Given the description of an element on the screen output the (x, y) to click on. 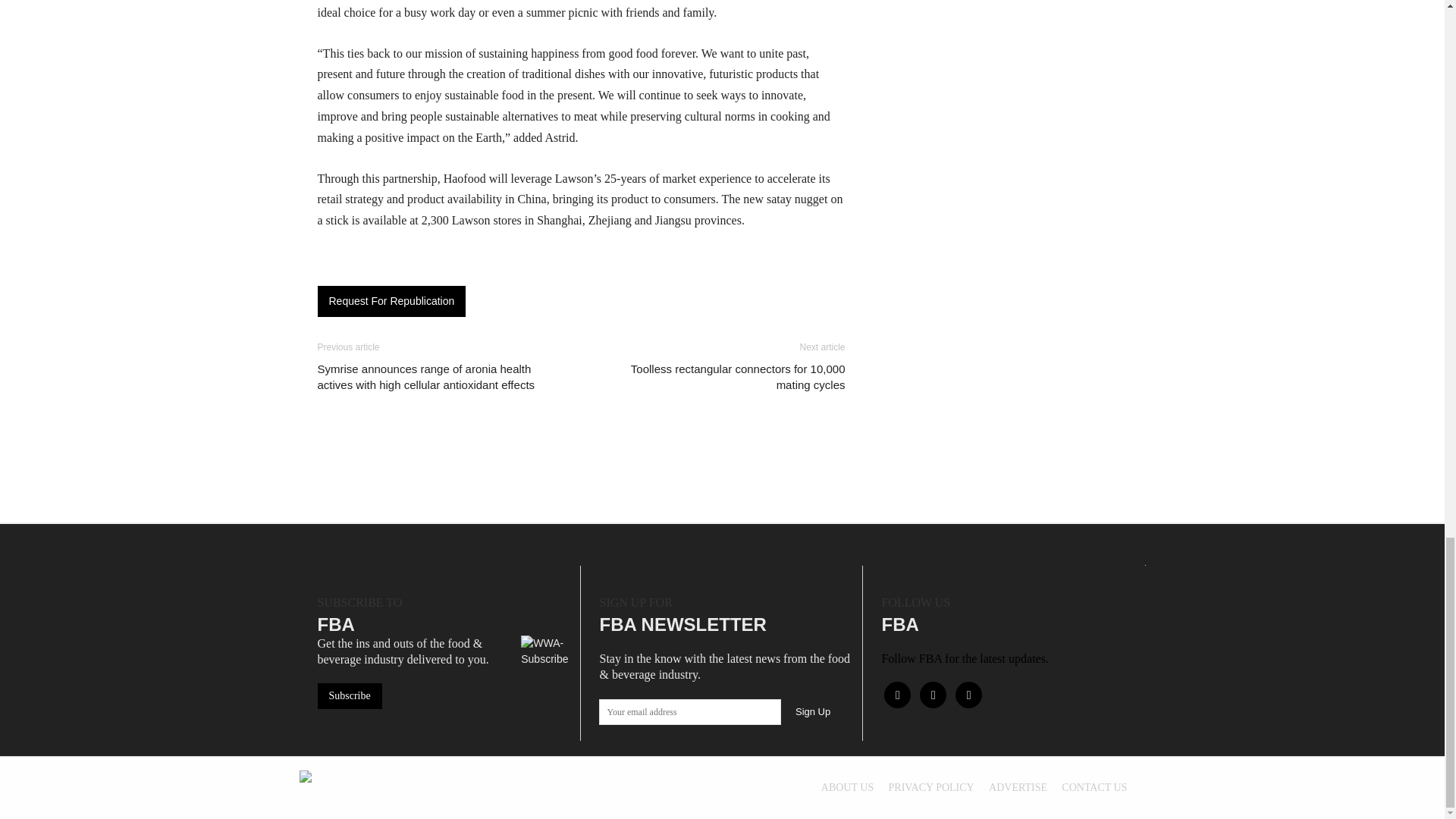
Sign Up (812, 710)
Subscribe (349, 696)
